Given the description of an element on the screen output the (x, y) to click on. 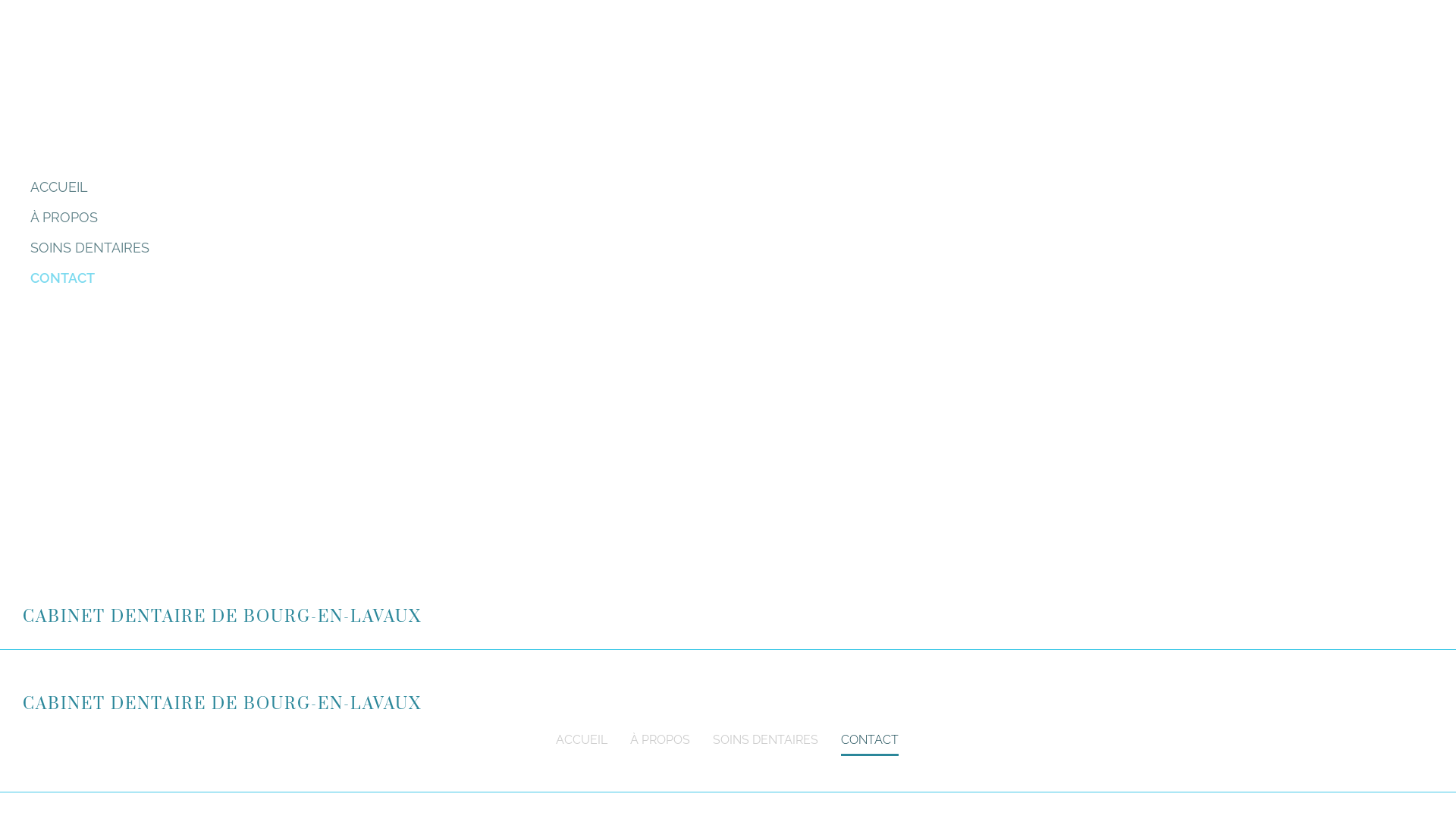
CABINET DENTAIRE DE BOURG-EN-LAVAUX Element type: text (221, 703)
ACCUEIL Element type: text (581, 738)
SOINS DENTAIRES Element type: text (386, 248)
SOINS DENTAIRES Element type: text (765, 738)
ACCUEIL Element type: text (386, 187)
CABINET DENTAIRE DE BOURG-EN-LAVAUX Element type: text (221, 616)
CONTACT Element type: text (386, 277)
CONTACT Element type: text (869, 738)
